Given the description of an element on the screen output the (x, y) to click on. 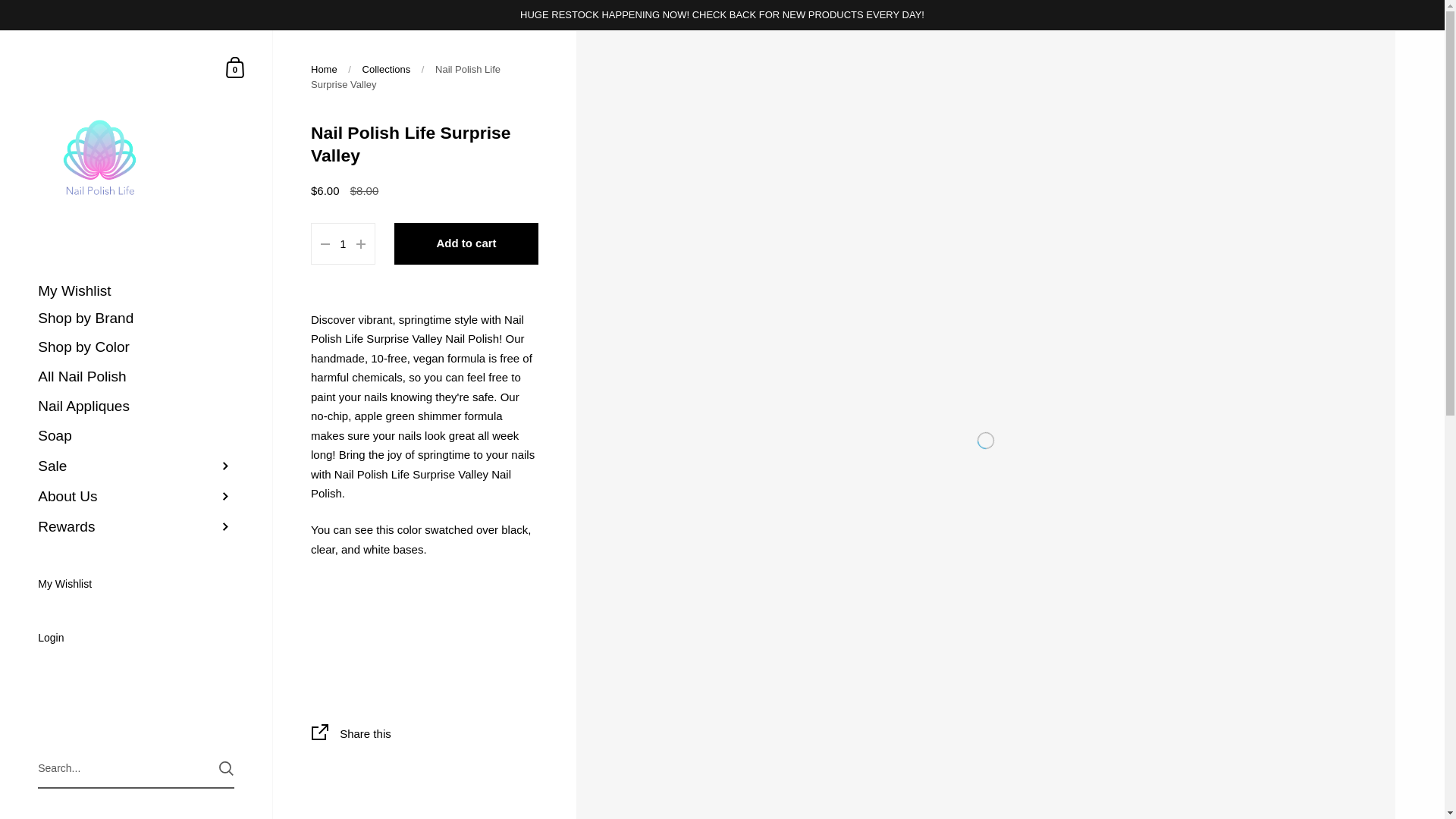
Rewards (136, 526)
0 (235, 66)
Share this (424, 735)
Login (136, 638)
Soap (136, 436)
Nail Appliques (136, 406)
All Nail Polish (136, 377)
Shop by Color (136, 347)
Shop by Brand (136, 318)
About Us (136, 496)
